Given the description of an element on the screen output the (x, y) to click on. 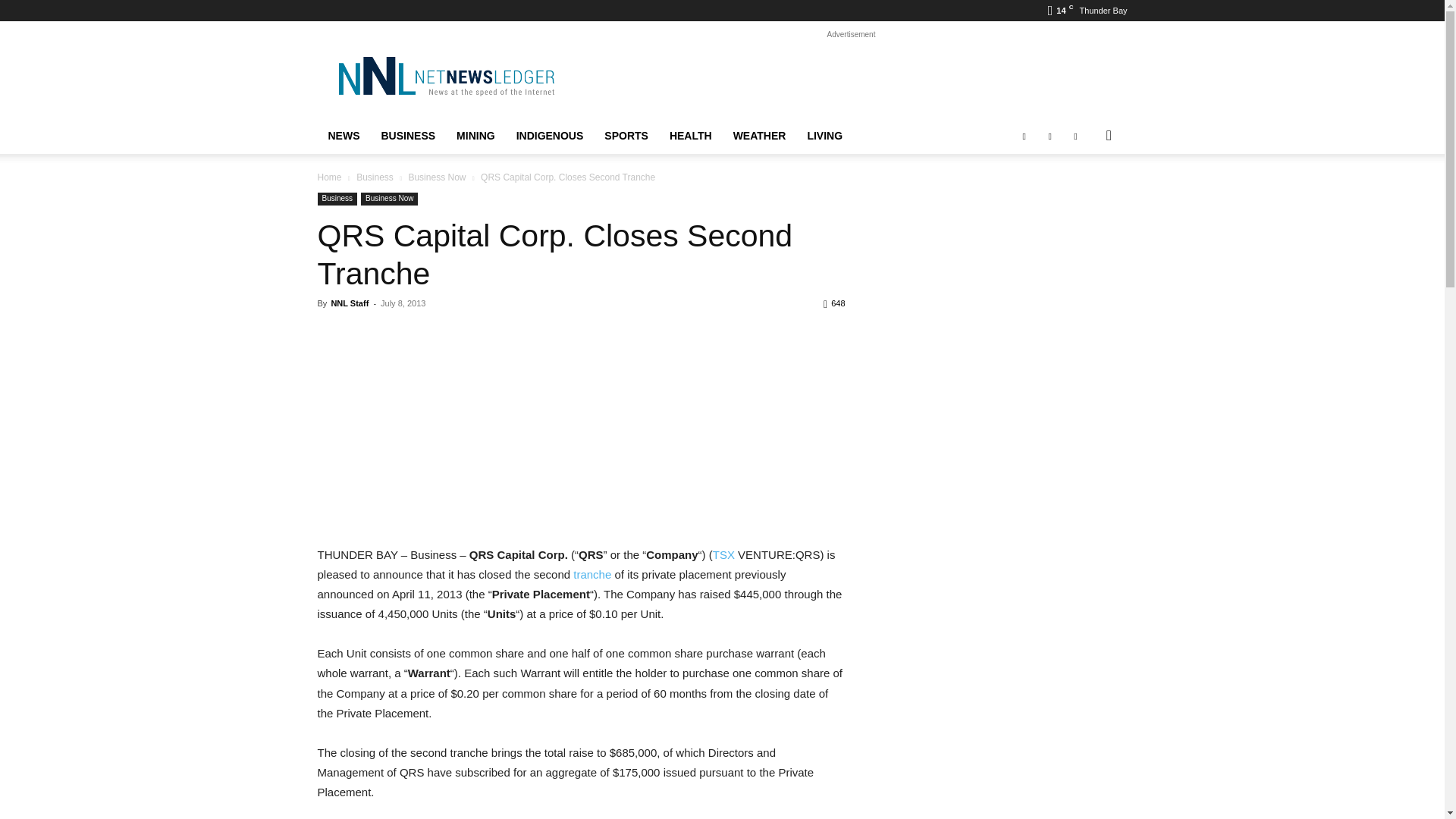
View all posts in Business Now (436, 176)
NetNewsLedger (445, 76)
Toronto Stock Exchange (724, 554)
View all posts in Business (374, 176)
Tranche (592, 574)
